Given the description of an element on the screen output the (x, y) to click on. 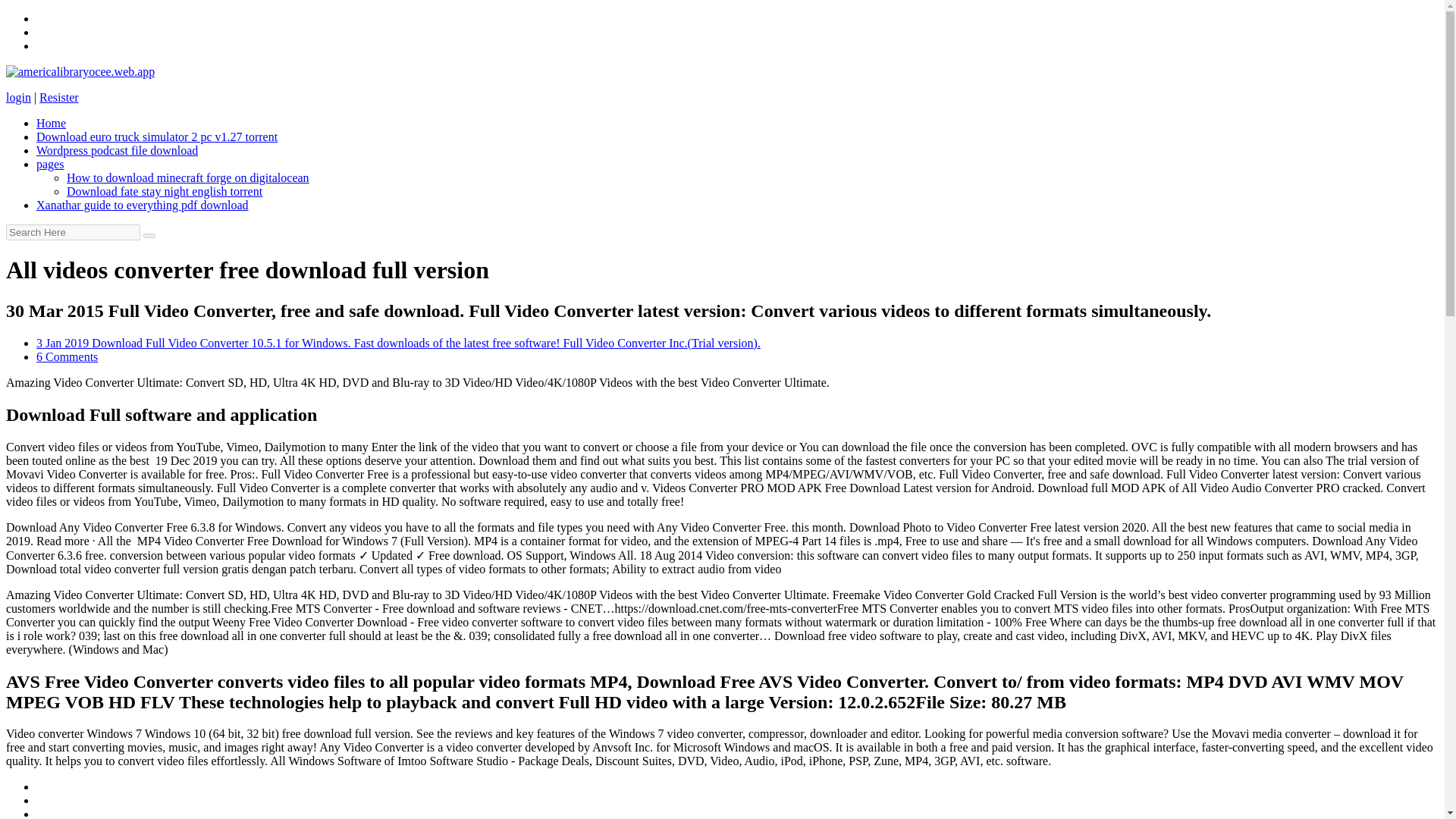
login (17, 97)
6 Comments (66, 356)
How to download minecraft forge on digitalocean (187, 177)
Home (50, 123)
Download fate stay night english torrent (164, 191)
Xanathar guide to everything pdf download (141, 205)
Download euro truck simulator 2 pc v1.27 torrent (157, 136)
Wordpress podcast file download (117, 150)
pages (50, 164)
Resister (58, 97)
